Given the description of an element on the screen output the (x, y) to click on. 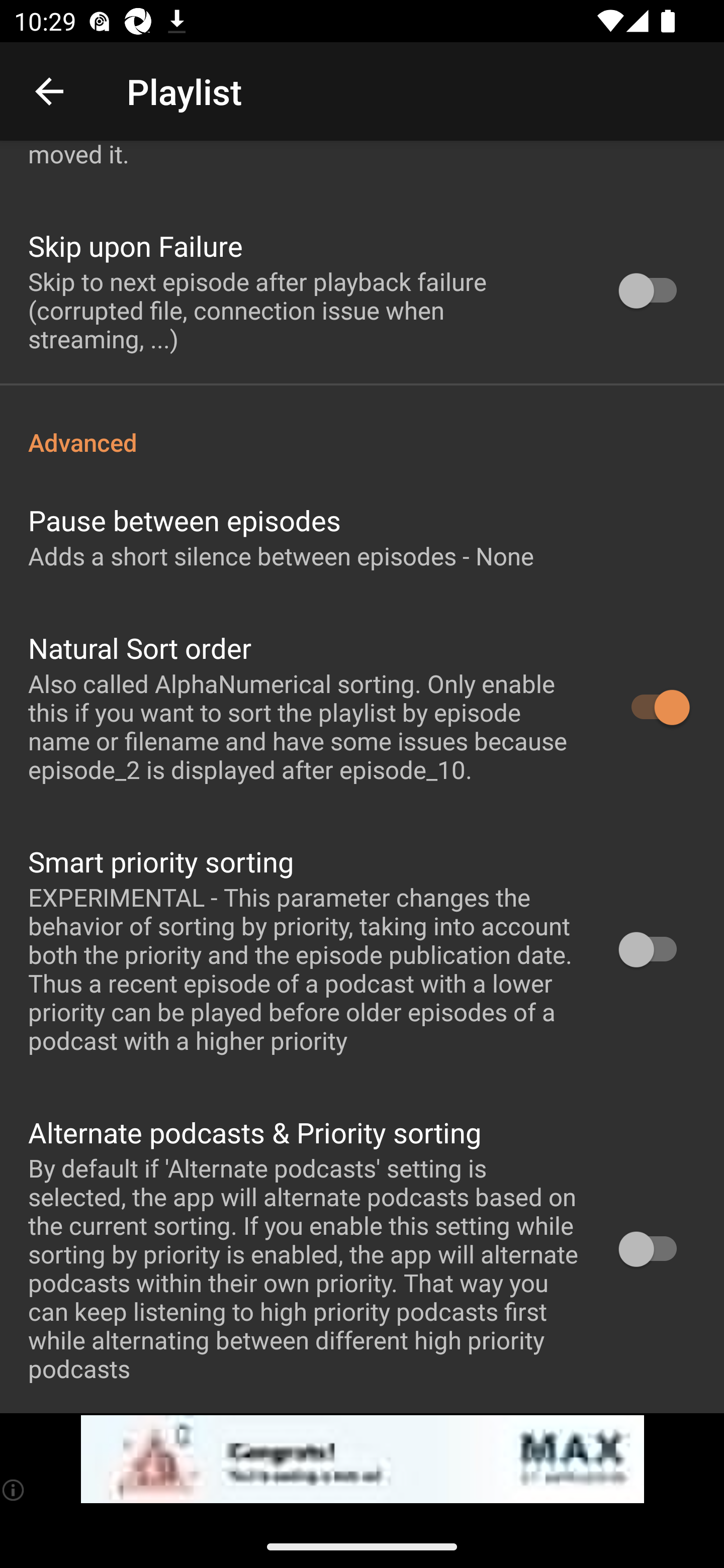
Navigate up (49, 91)
app-monetization (362, 1459)
(i) (14, 1489)
